Given the description of an element on the screen output the (x, y) to click on. 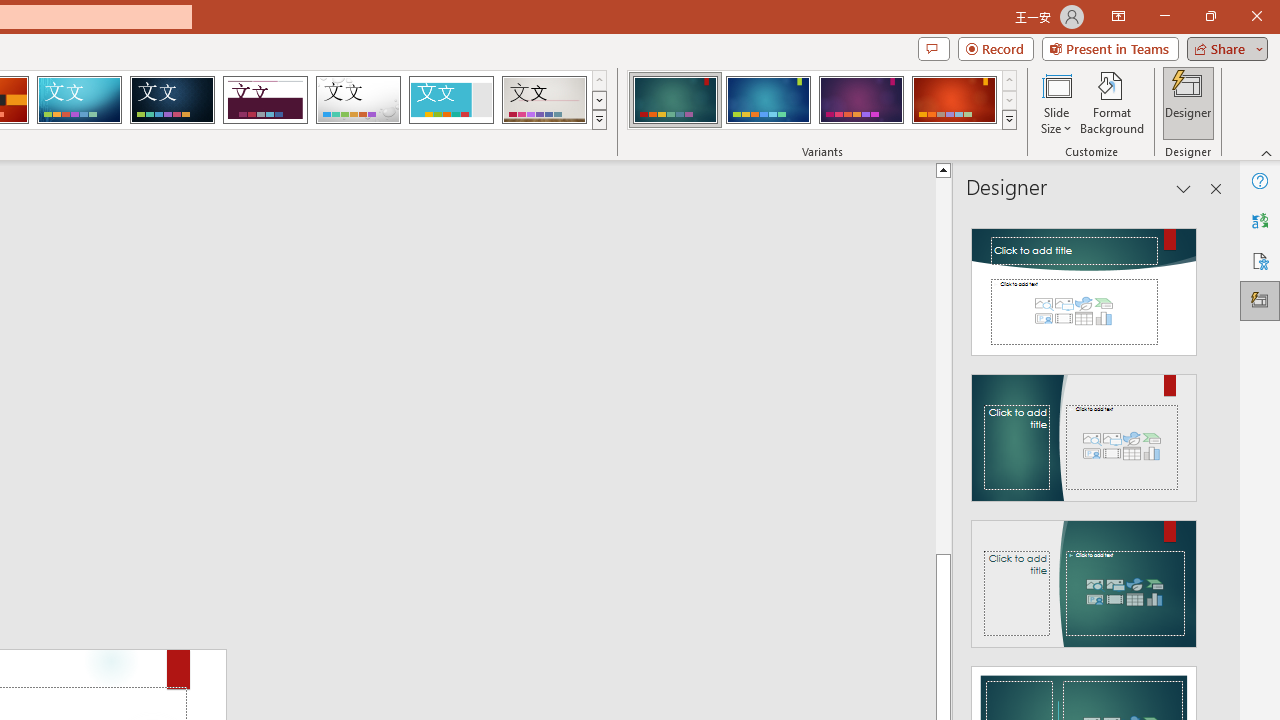
AutomationID: ThemeVariantsGallery (822, 99)
Ion Variant 2 (768, 100)
Ion Variant 4 (953, 100)
